Given the description of an element on the screen output the (x, y) to click on. 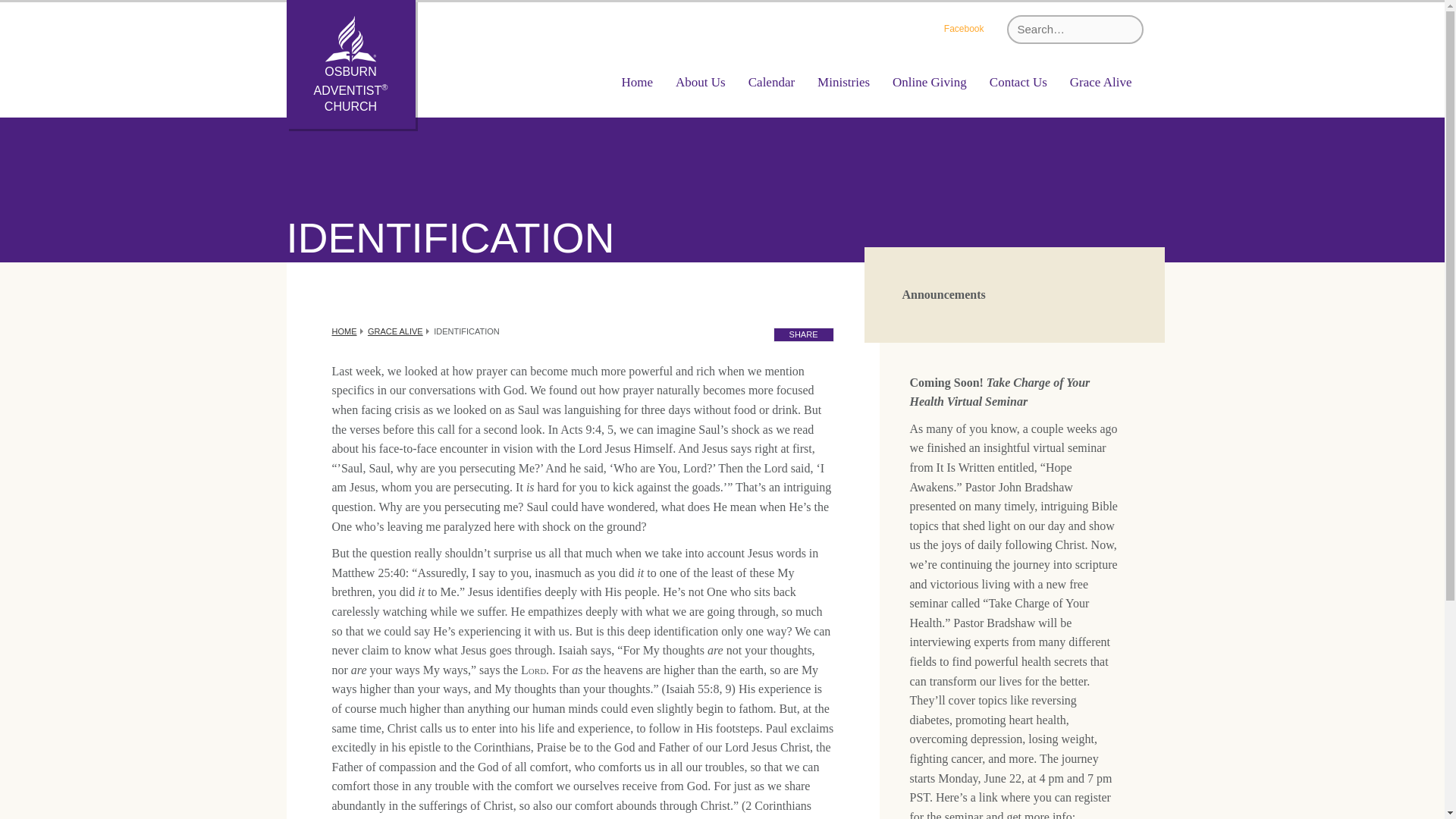
GRACE ALIVE (395, 330)
About Us (700, 82)
SHARE (803, 334)
Home (637, 82)
Ministries (843, 82)
Facebook (963, 29)
Calendar (771, 82)
Grace Alive (1100, 82)
Contact Us (1018, 82)
Online Giving (929, 82)
HOME (343, 330)
